Given the description of an element on the screen output the (x, y) to click on. 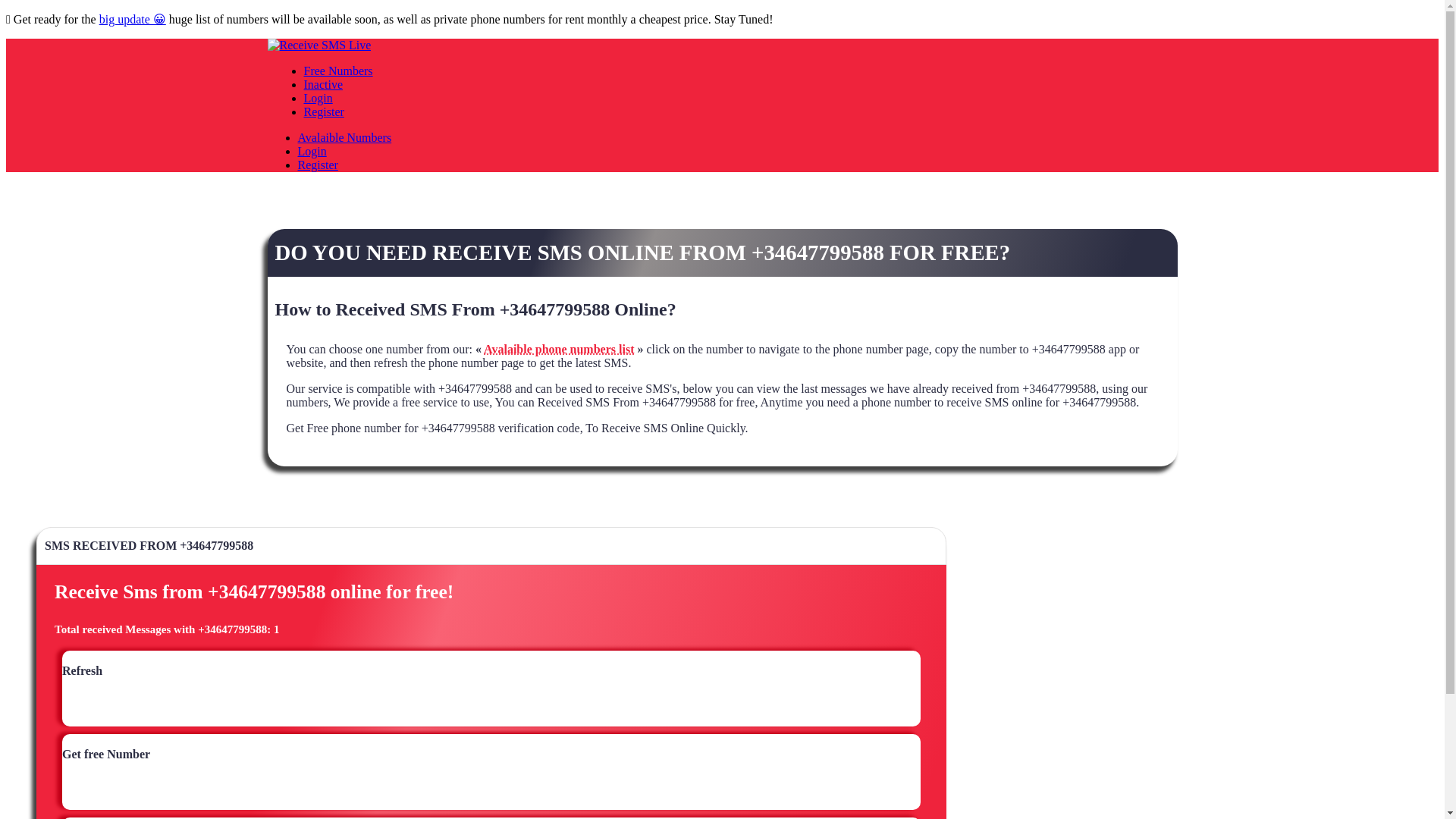
Avalaible phone numbers list (558, 349)
Login (311, 151)
Inactive (322, 83)
Free Numbers (337, 70)
Avalaible Numbers (344, 137)
Get free Number (105, 760)
Register (322, 111)
Refresh (81, 677)
Register (317, 164)
Login (316, 97)
